Given the description of an element on the screen output the (x, y) to click on. 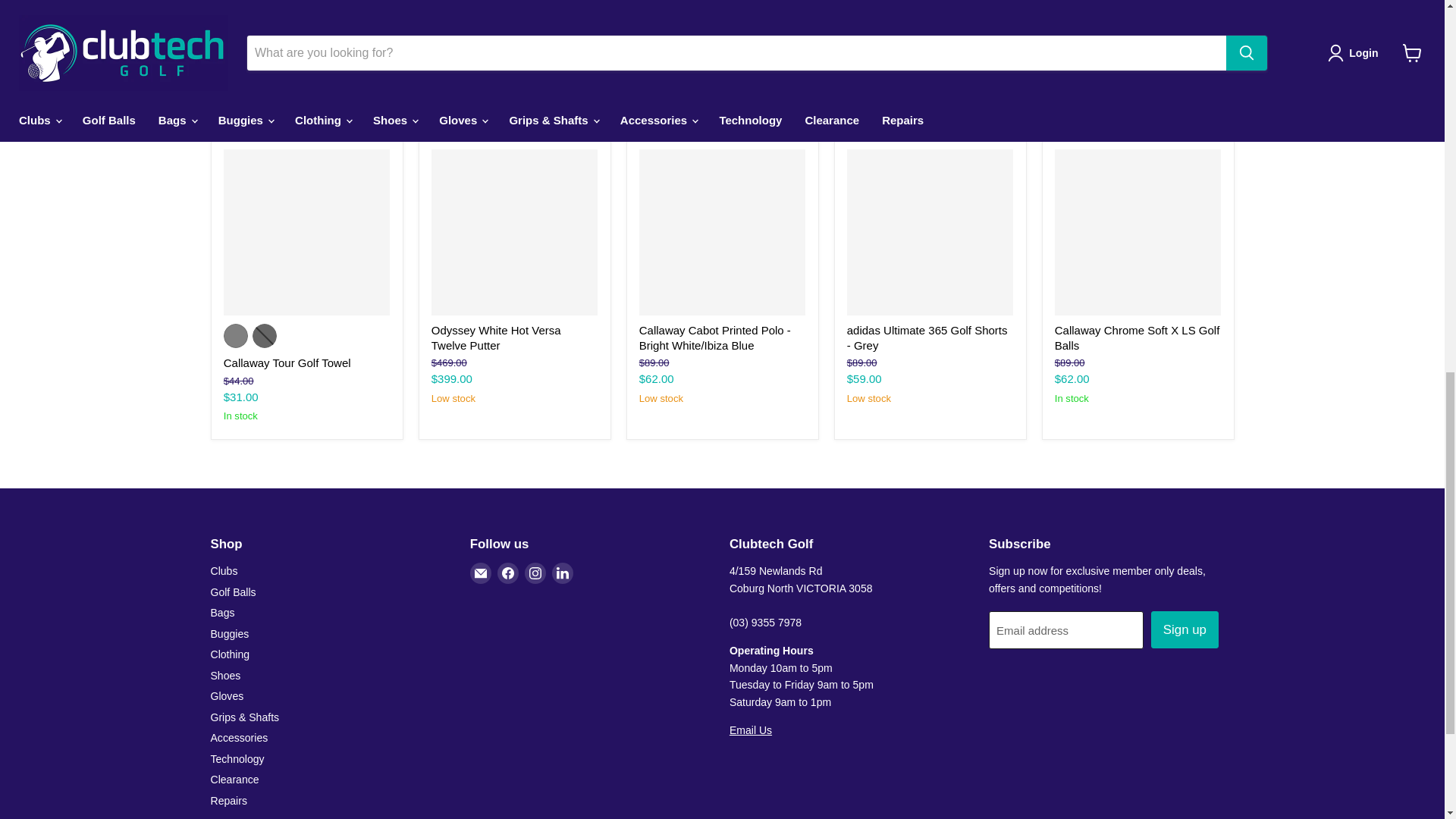
Facebook (507, 572)
LinkedIn (562, 572)
Instagram (535, 572)
Email (481, 572)
